Given the description of an element on the screen output the (x, y) to click on. 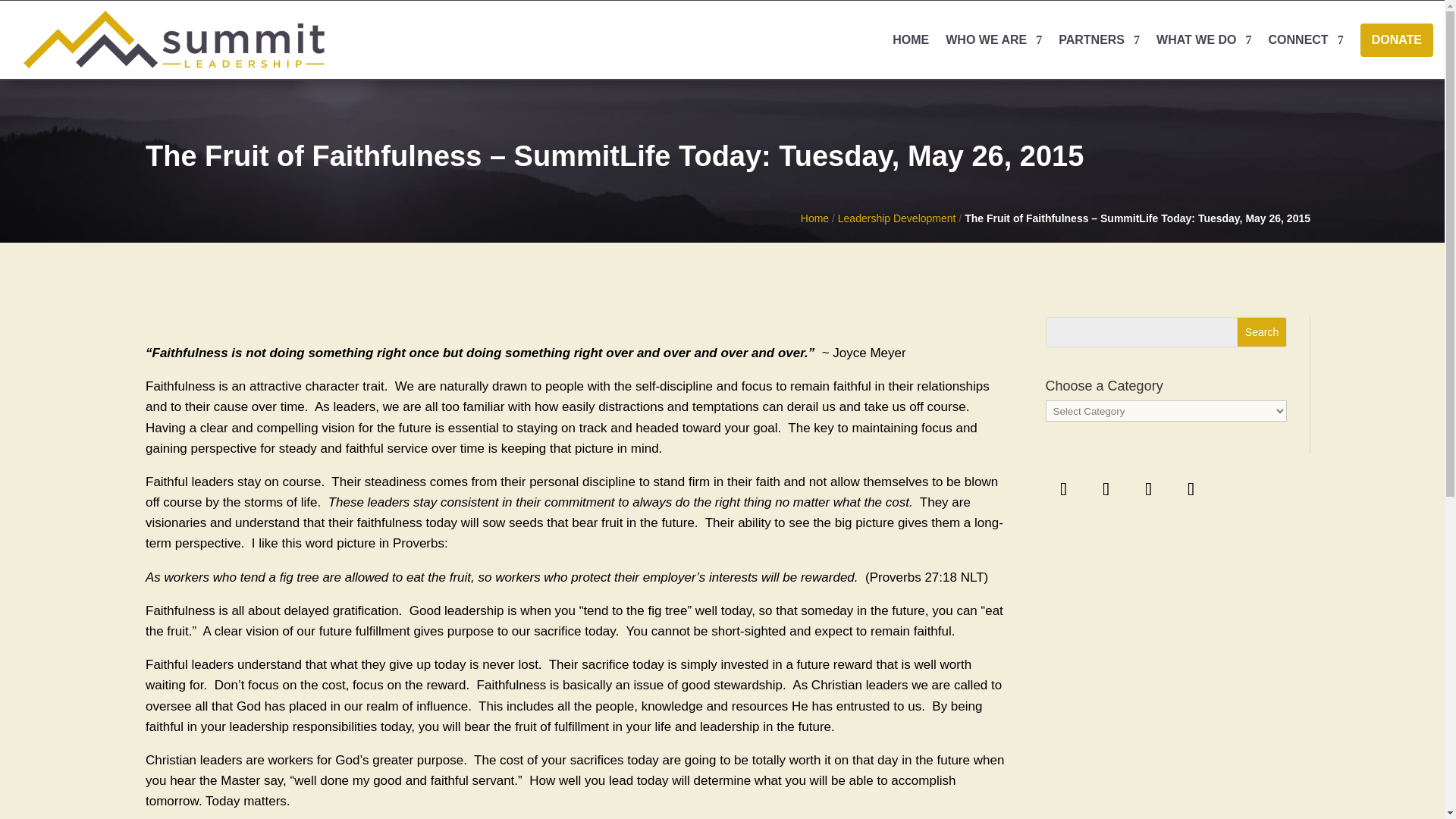
DONATE (1395, 39)
Follow on LinkedIn (1149, 488)
Follow on X (1105, 488)
CONNECT (1305, 39)
Follow on Pinterest (1191, 488)
Search (1261, 331)
PARTNERS (1099, 39)
WHO WE ARE (993, 39)
WHAT WE DO (1203, 39)
Follow on Facebook (1063, 488)
